Given the description of an element on the screen output the (x, y) to click on. 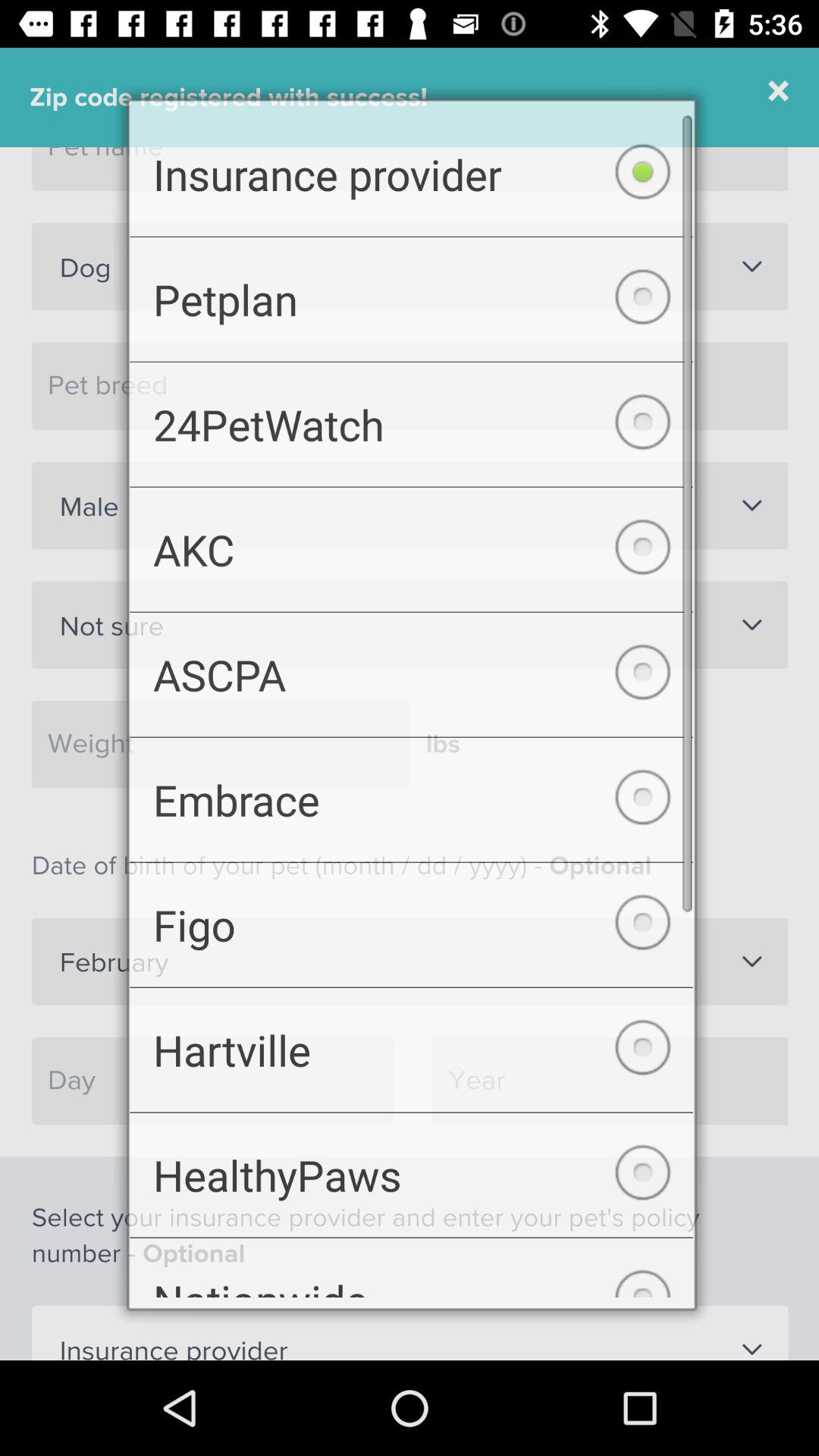
swipe to hartville checkbox (411, 1059)
